Given the description of an element on the screen output the (x, y) to click on. 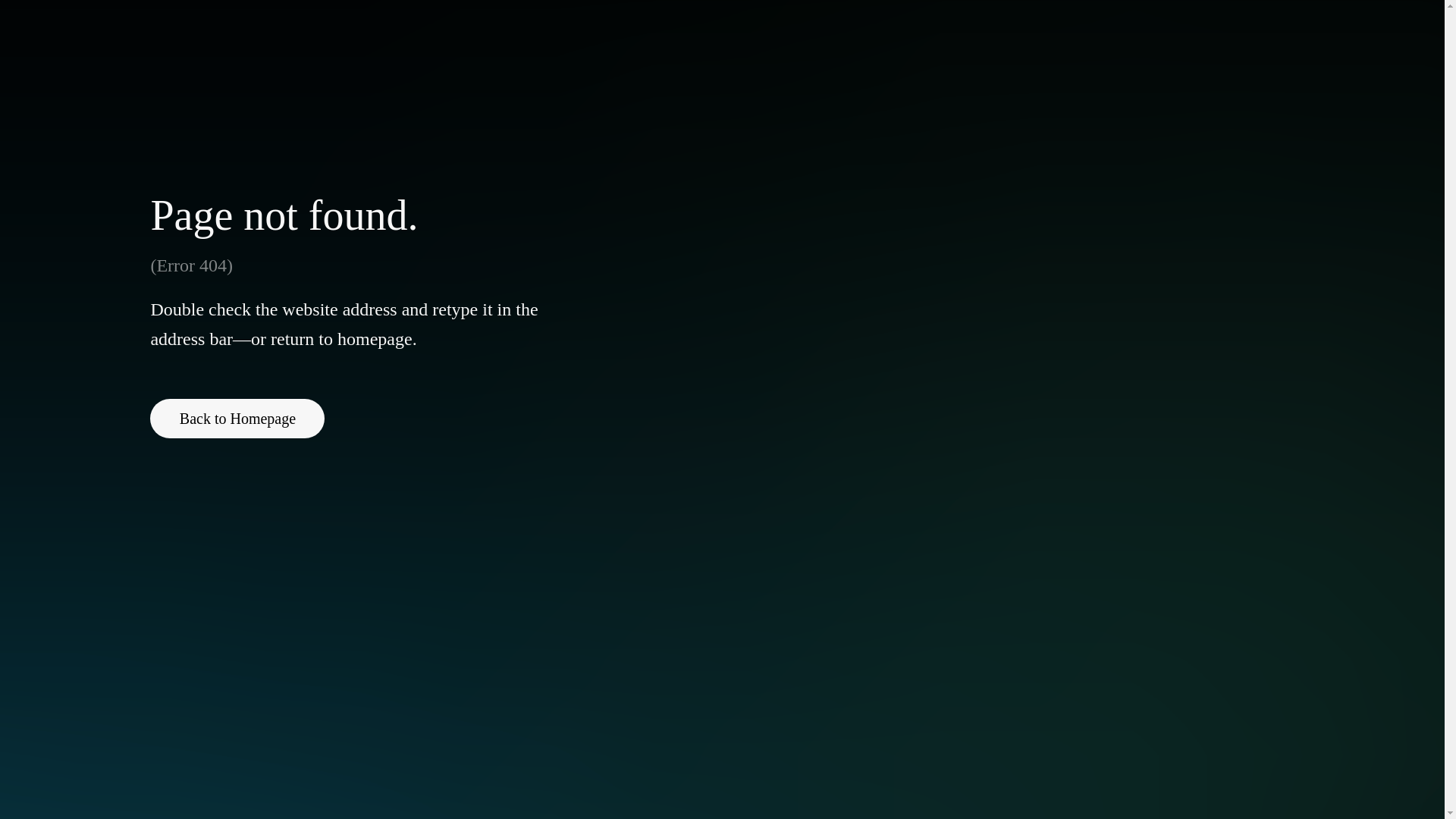
Back to Homepage (236, 418)
